Given the description of an element on the screen output the (x, y) to click on. 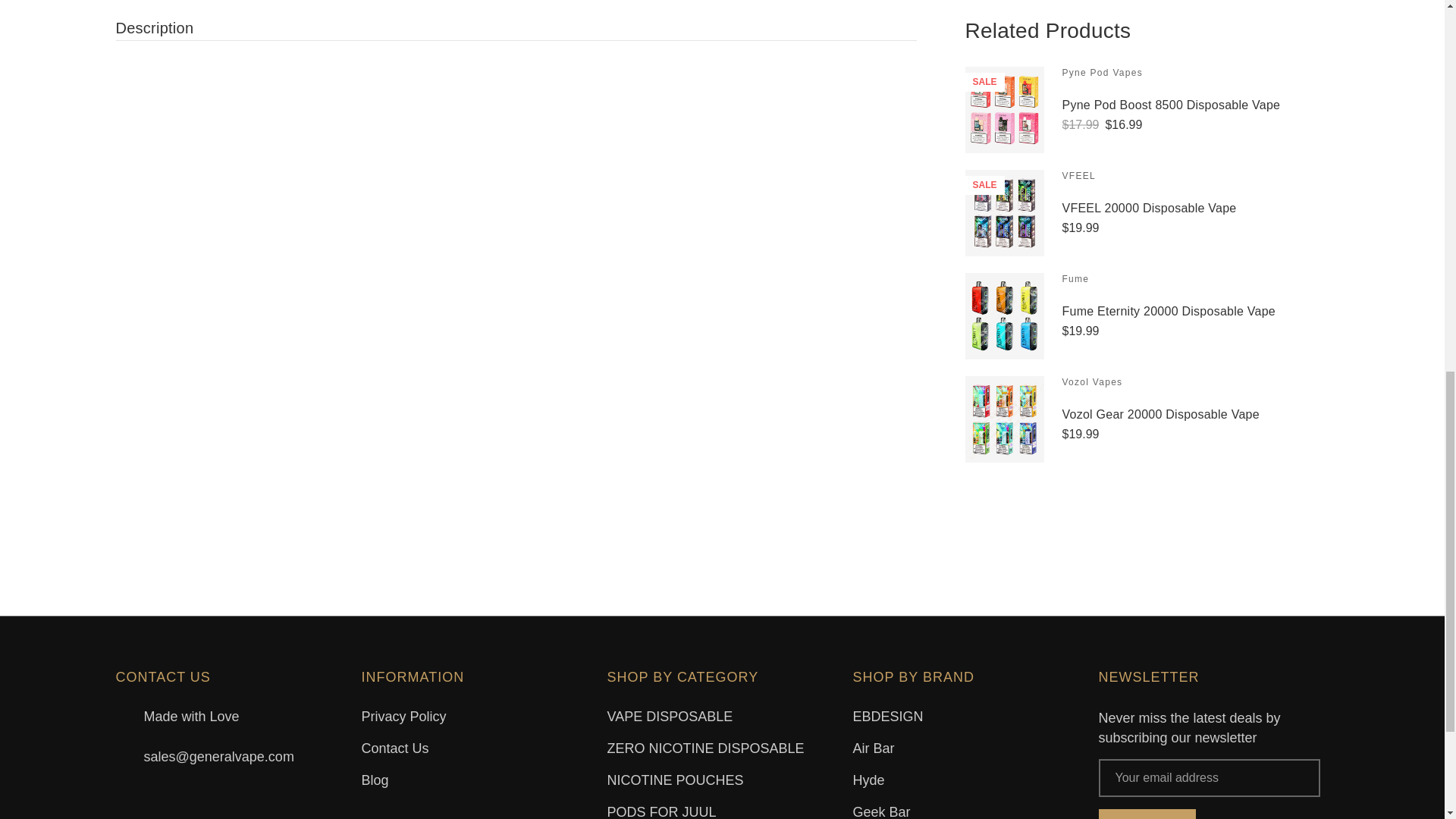
Subscribe (1146, 814)
